Given the description of an element on the screen output the (x, y) to click on. 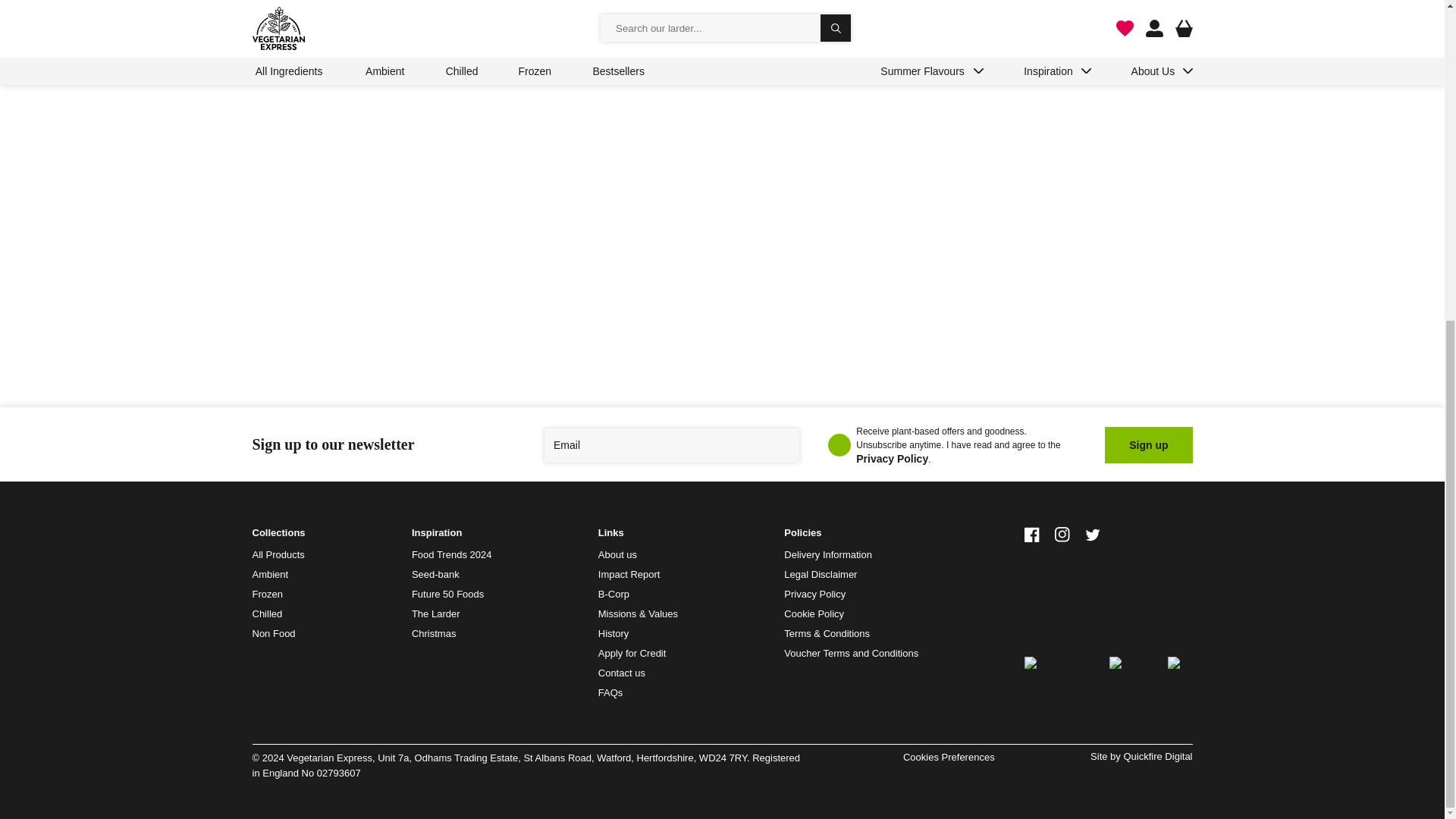
Privacy Policy (892, 458)
